Given the description of an element on the screen output the (x, y) to click on. 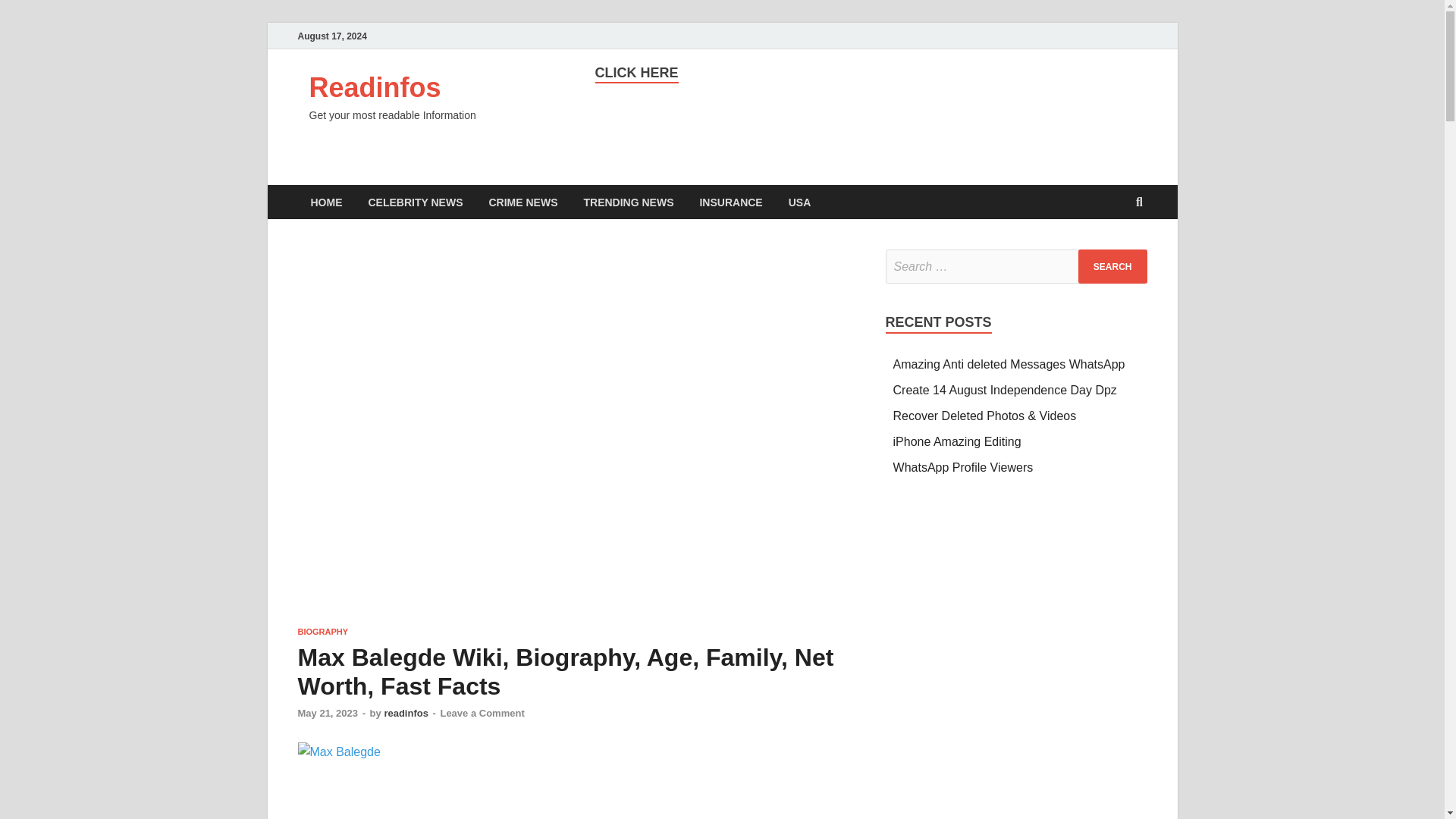
May 21, 2023 (327, 713)
BIOGRAPHY (322, 631)
Readinfos (374, 87)
INSURANCE (729, 202)
Search (1112, 266)
TRENDING NEWS (627, 202)
Leave a Comment (481, 713)
CRIME NEWS (523, 202)
readinfos (406, 713)
HOME (326, 202)
